Given the description of an element on the screen output the (x, y) to click on. 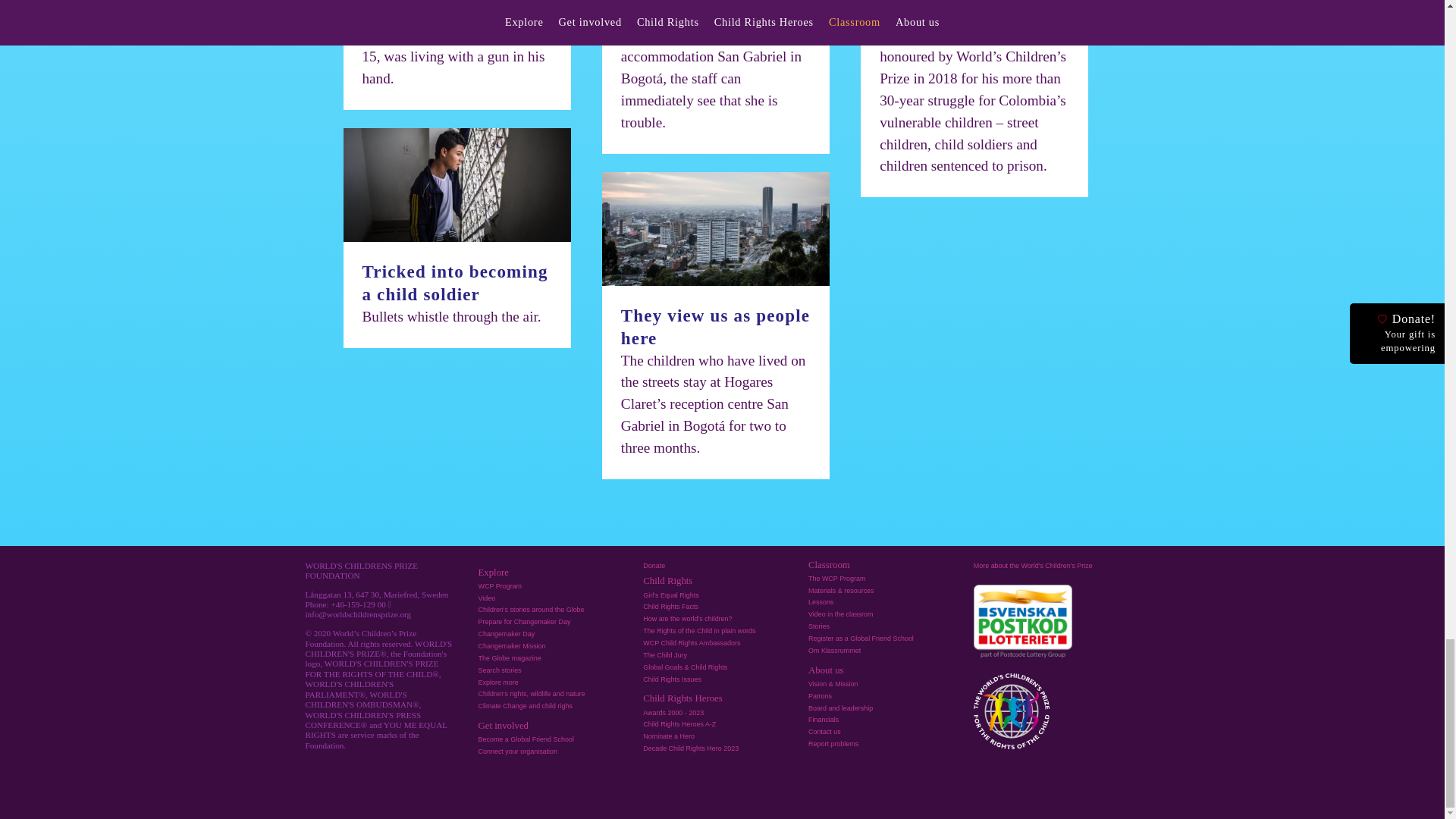
Prepare for Changemaker Day (523, 621)
Changemaker Mission (510, 646)
Explore (492, 572)
WCP Program (499, 585)
Video (486, 597)
The Globe magazine (508, 657)
Changemaker Day (505, 633)
Children's stories around the Globe (530, 609)
